Given the description of an element on the screen output the (x, y) to click on. 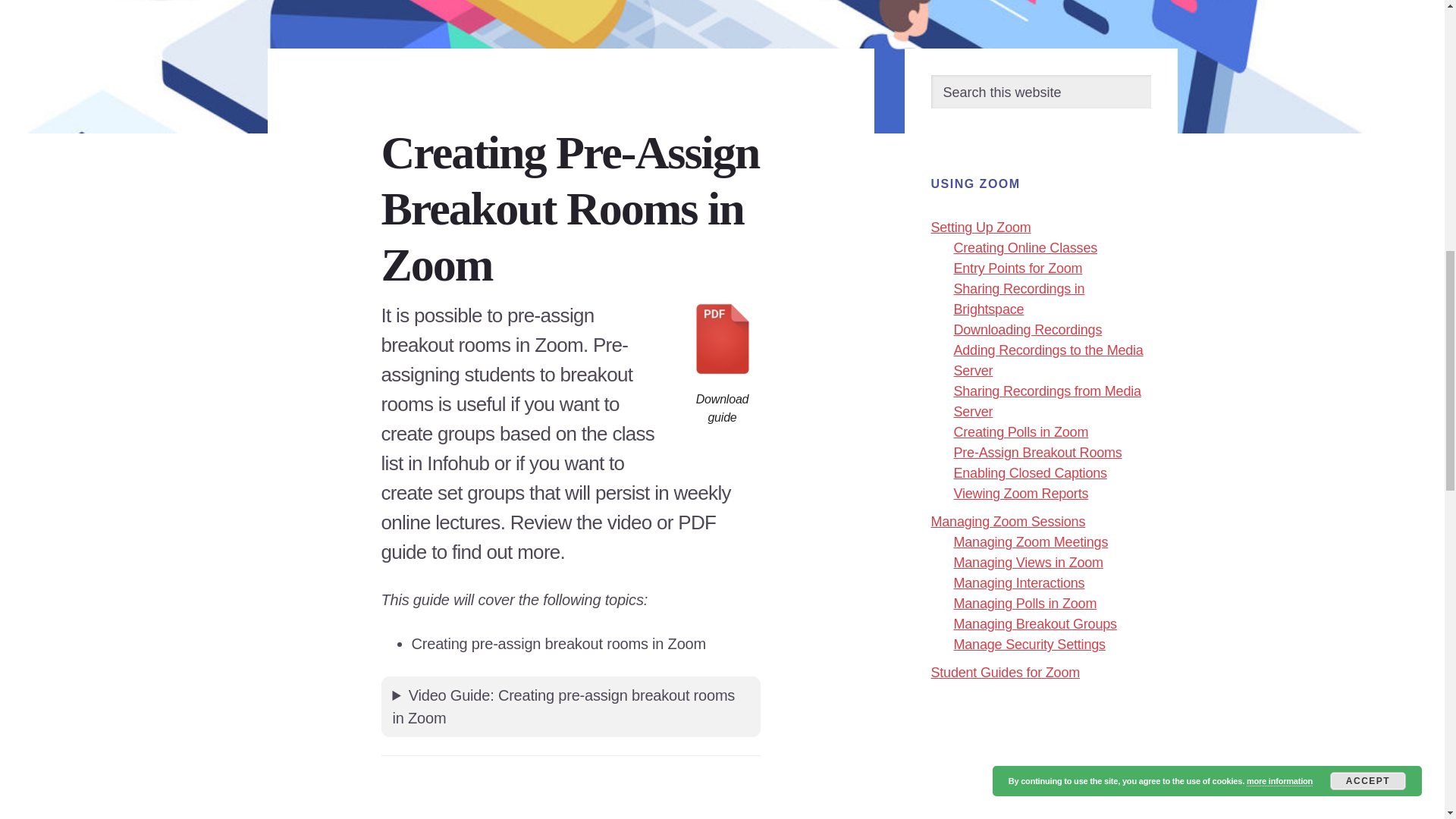
Creating Online Classes (1025, 247)
Sharing Recordings in Brightspace (1018, 298)
Setting Up Zoom (980, 227)
Entry Points for Zoom (1018, 268)
